Given the description of an element on the screen output the (x, y) to click on. 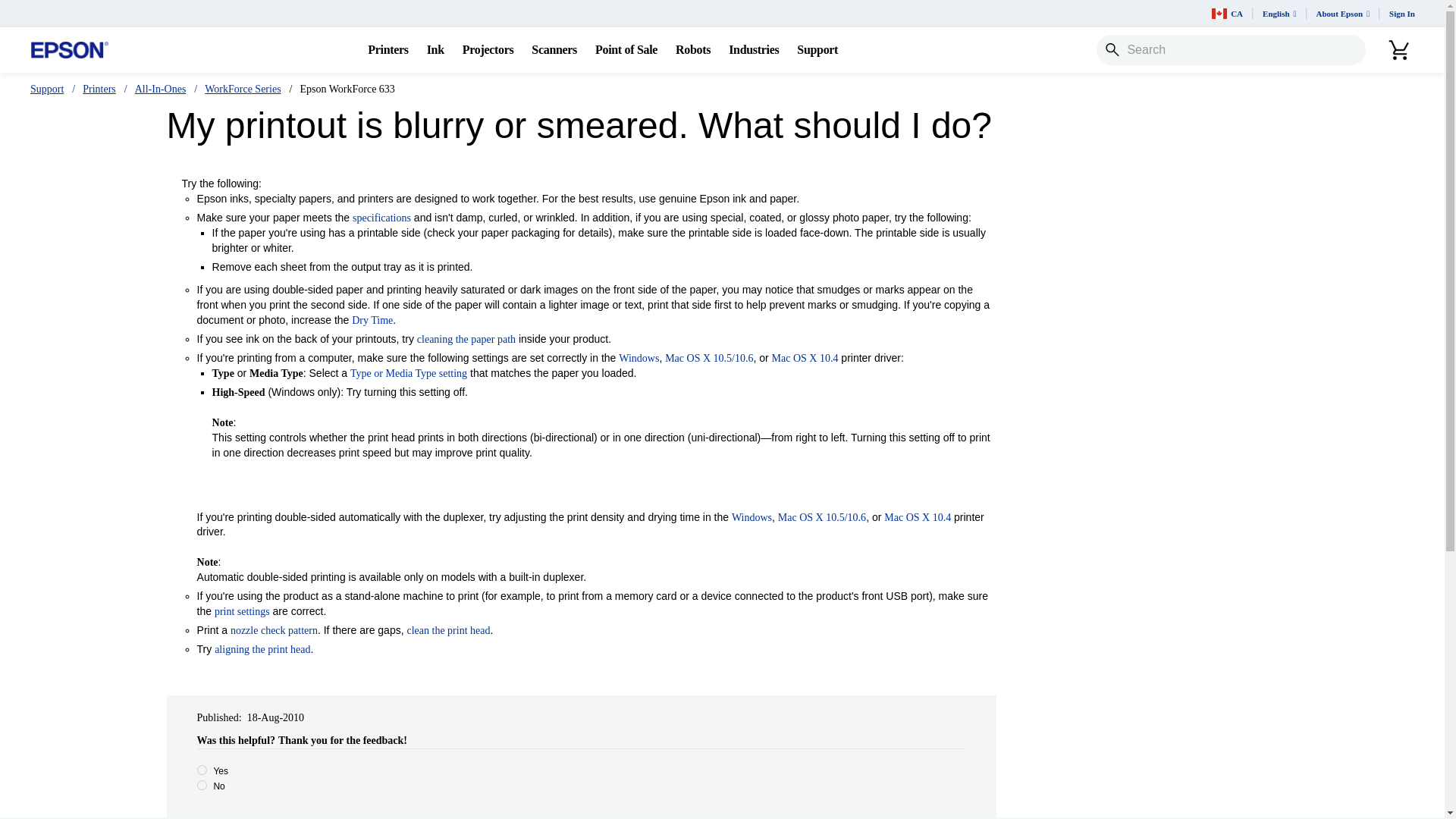
Epson Logo (69, 49)
English (1279, 13)
CA (1227, 13)
yes (201, 769)
About Epson (1342, 13)
no (201, 785)
Sign In (1401, 13)
English (1279, 13)
CA (1227, 13)
Sign In (1401, 13)
